Given the description of an element on the screen output the (x, y) to click on. 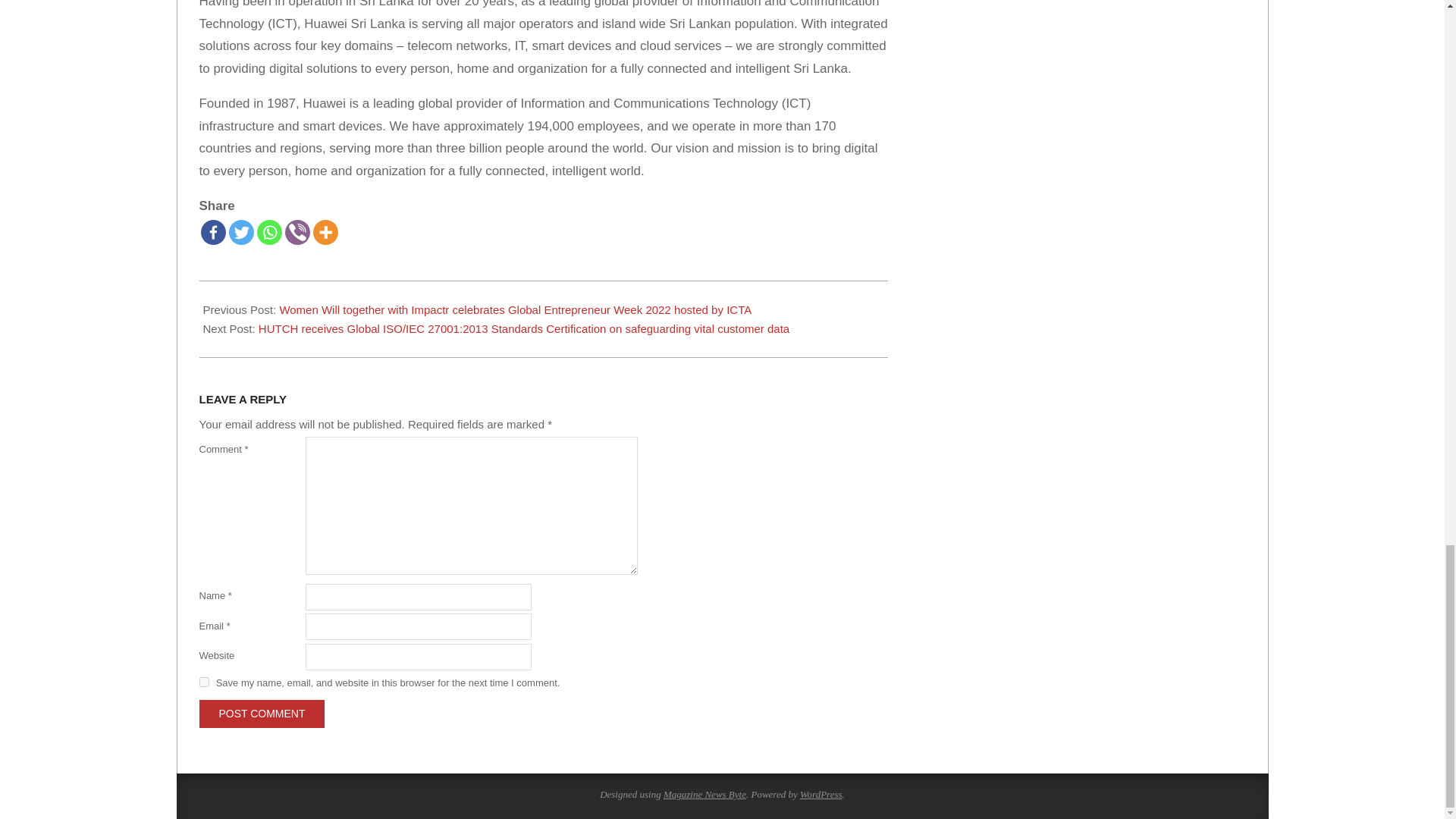
Magazine News Byte (704, 794)
Post Comment (261, 714)
More (325, 231)
Whatsapp (268, 231)
Twitter (240, 231)
Facebook (212, 231)
Post Comment (261, 714)
Magazine News Byte WordPress Theme (704, 794)
Viber (297, 231)
yes (203, 682)
